Given the description of an element on the screen output the (x, y) to click on. 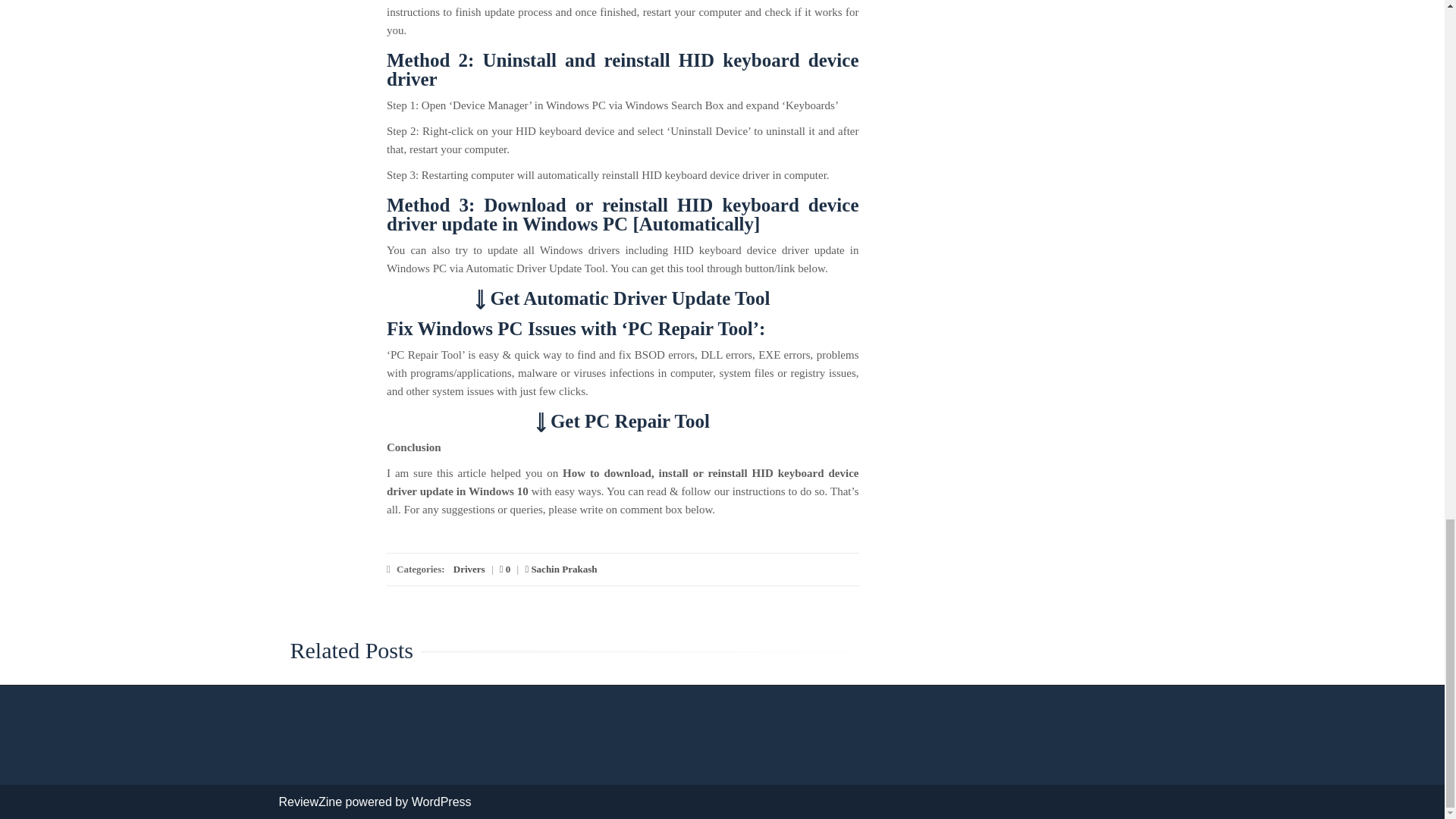
Sachin Prakash (560, 568)
0 (505, 568)
Drivers (468, 568)
